Given the description of an element on the screen output the (x, y) to click on. 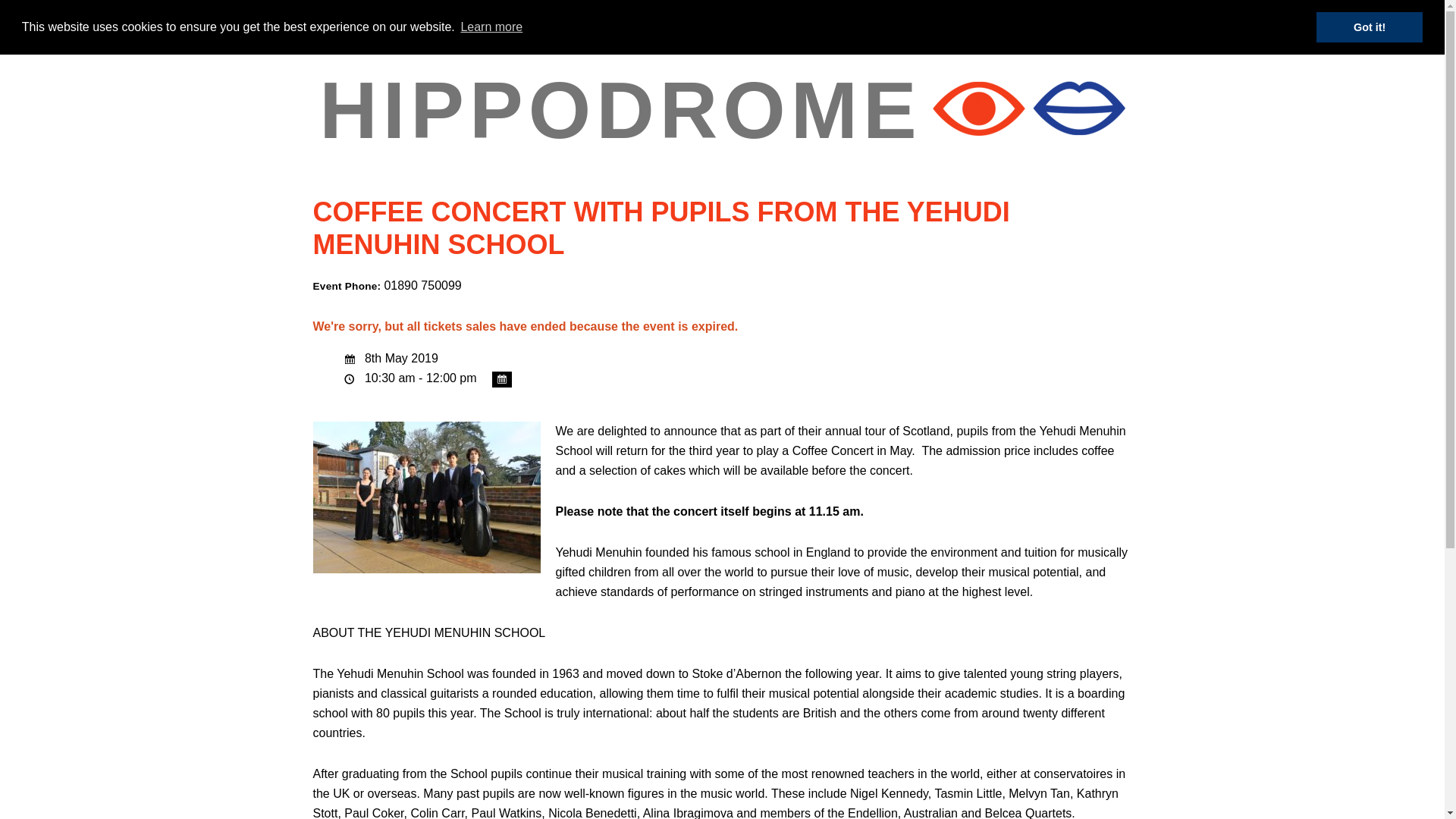
JOIN IN (778, 19)
FIND US (914, 19)
HOME (423, 19)
Add to iCal Calendar (502, 379)
CONTACT US (1002, 19)
Got it! (1369, 27)
ABOUT (490, 19)
HIPPODROME (619, 109)
SHOP (846, 19)
Learn more (491, 26)
